Given the description of an element on the screen output the (x, y) to click on. 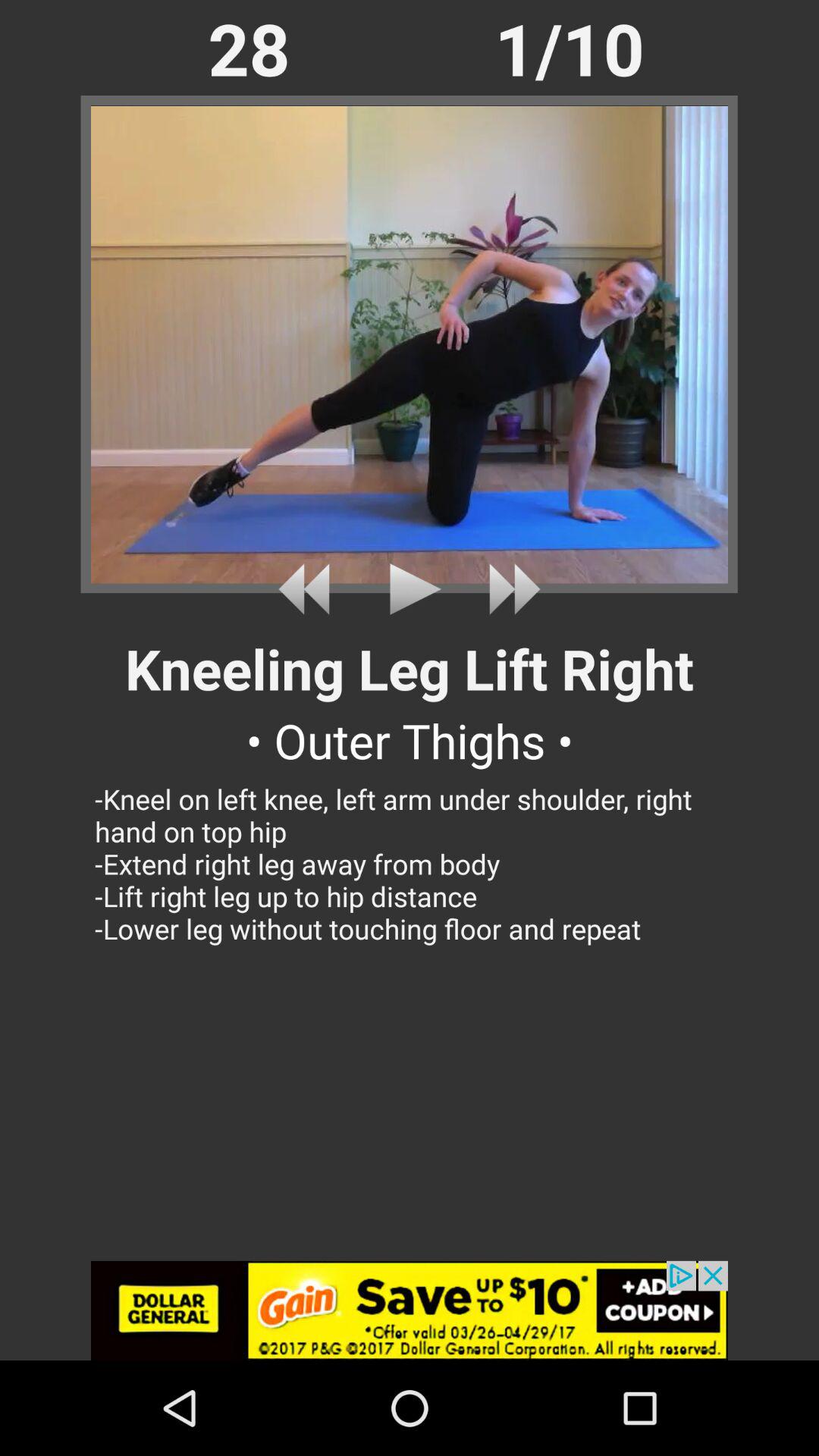
go to play (409, 589)
